Given the description of an element on the screen output the (x, y) to click on. 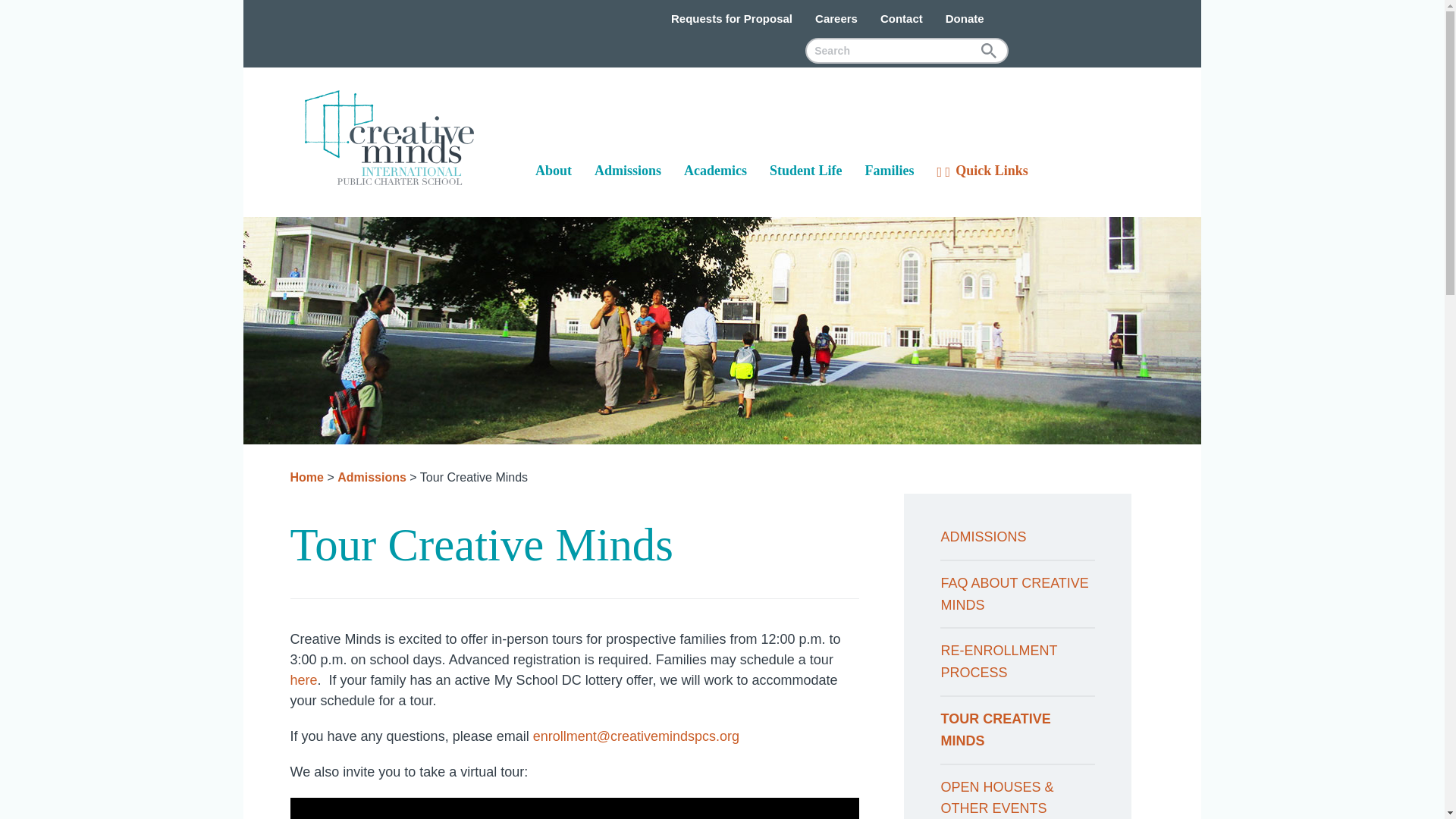
Academics (715, 170)
Requests for Proposal (731, 18)
Admissions (627, 170)
Careers (836, 18)
Admissions (627, 170)
Student Life (805, 170)
About (553, 170)
Contact (901, 18)
Requests for Proposal (731, 18)
Families (889, 170)
About (553, 170)
Careers (836, 18)
Contact (901, 18)
